Given the description of an element on the screen output the (x, y) to click on. 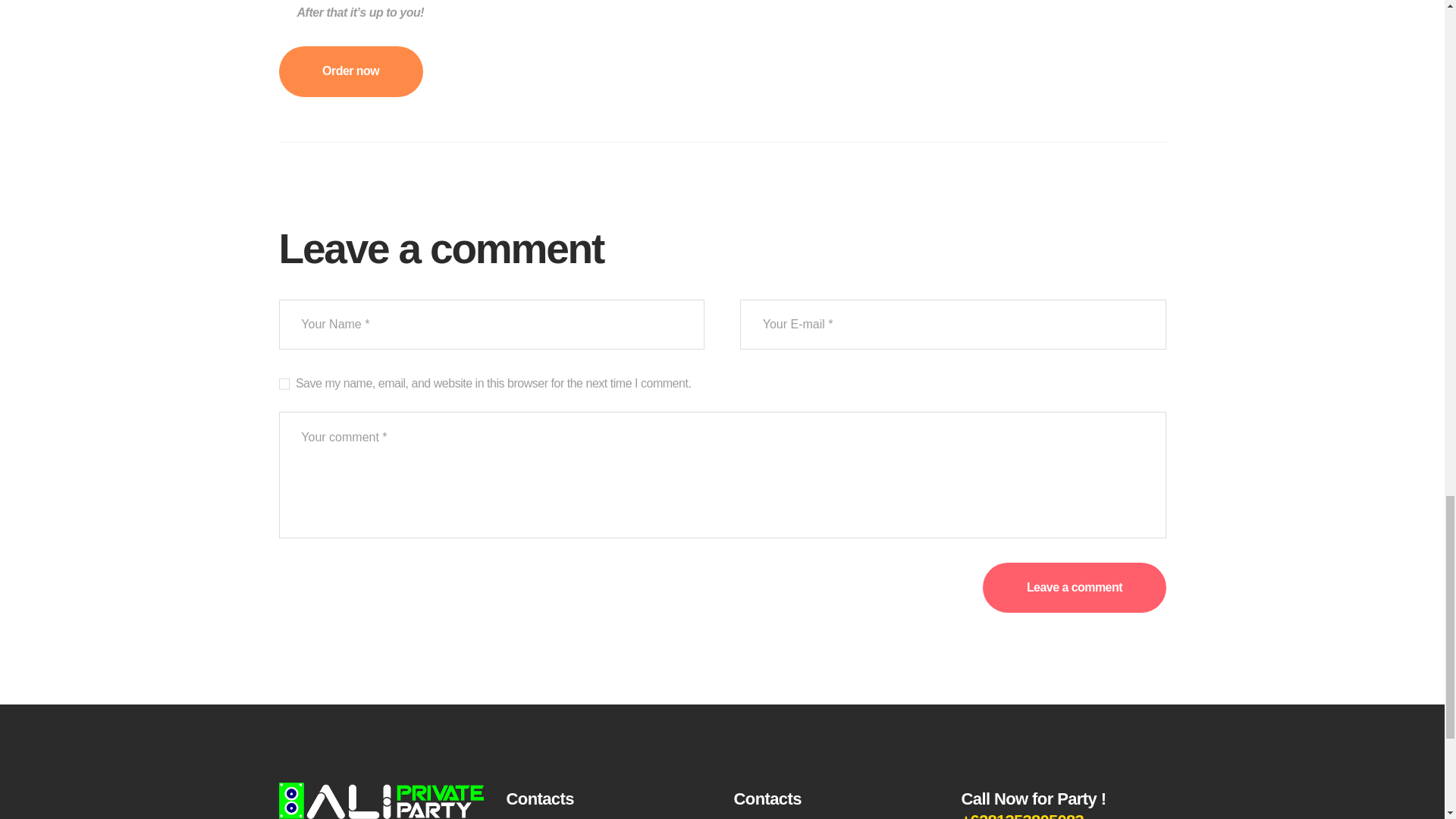
Leave a comment (1074, 587)
Order now (351, 70)
Leave a comment (1074, 587)
